Given the description of an element on the screen output the (x, y) to click on. 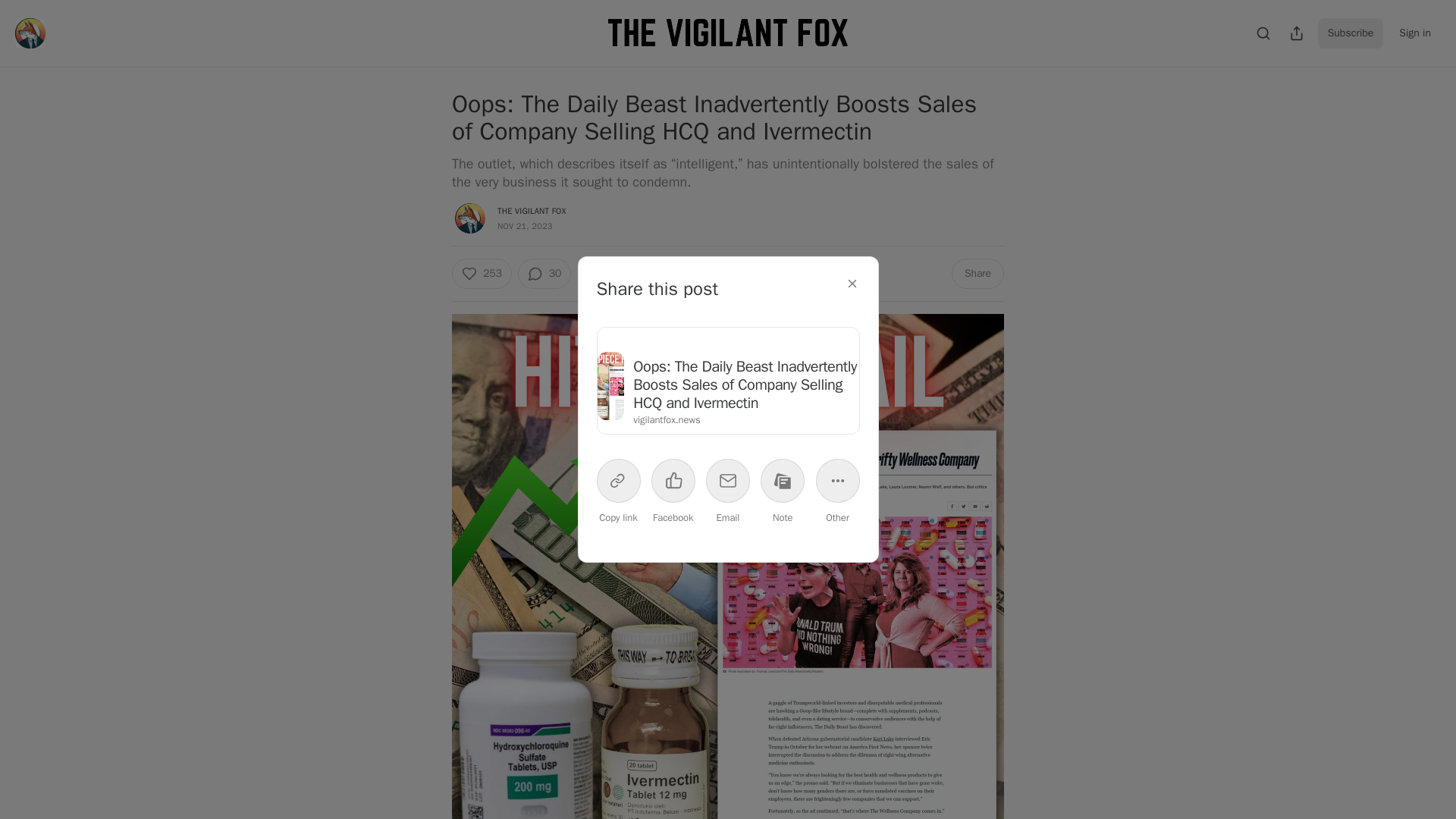
THE VIGILANT FOX (531, 210)
Share (978, 273)
30 (545, 273)
Sign in (1415, 33)
Subscribe (1350, 33)
253 (481, 273)
